Given the description of an element on the screen output the (x, y) to click on. 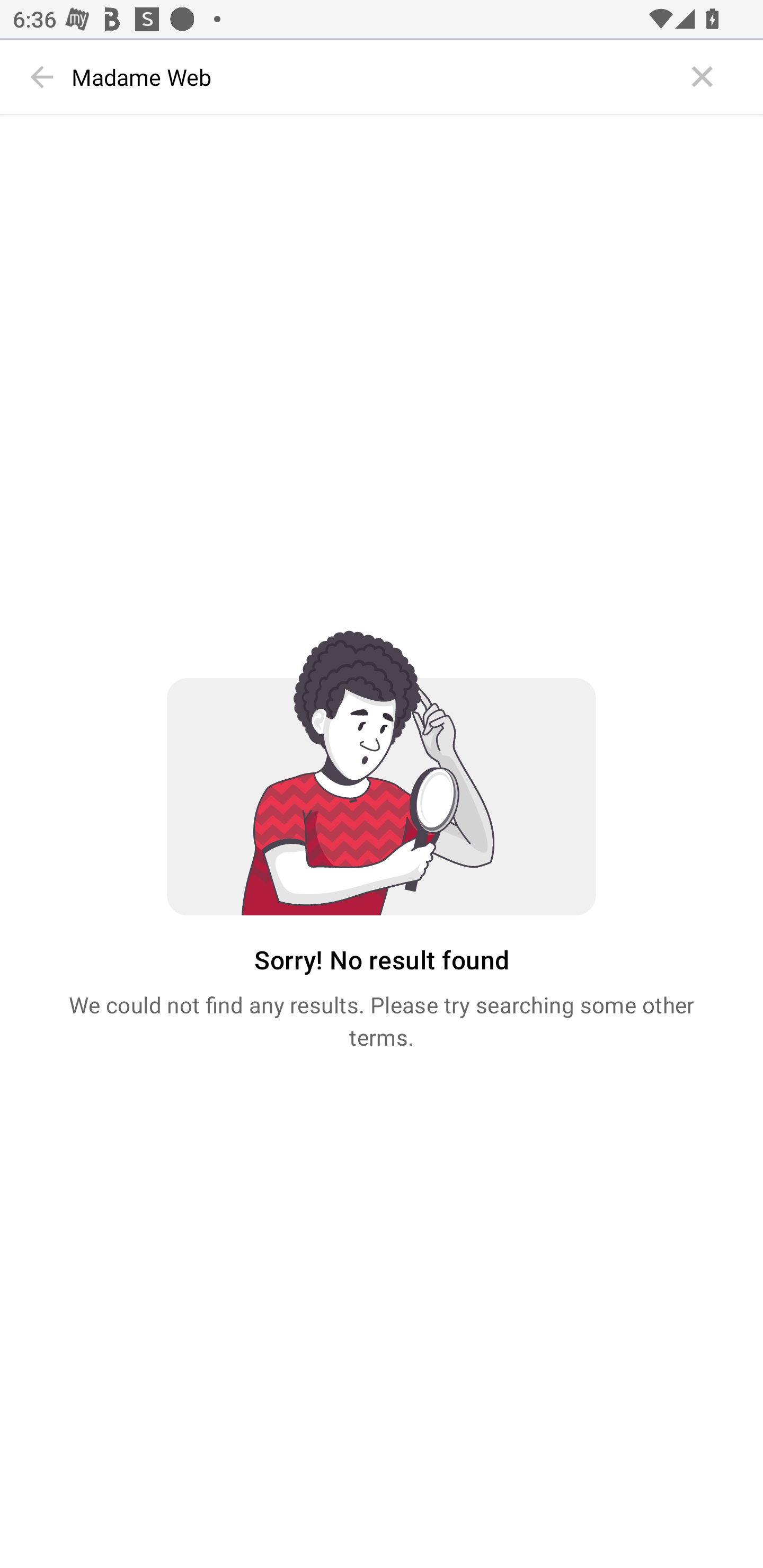
Back (42, 76)
Madame Web (373, 76)
Close (702, 76)
